Given the description of an element on the screen output the (x, y) to click on. 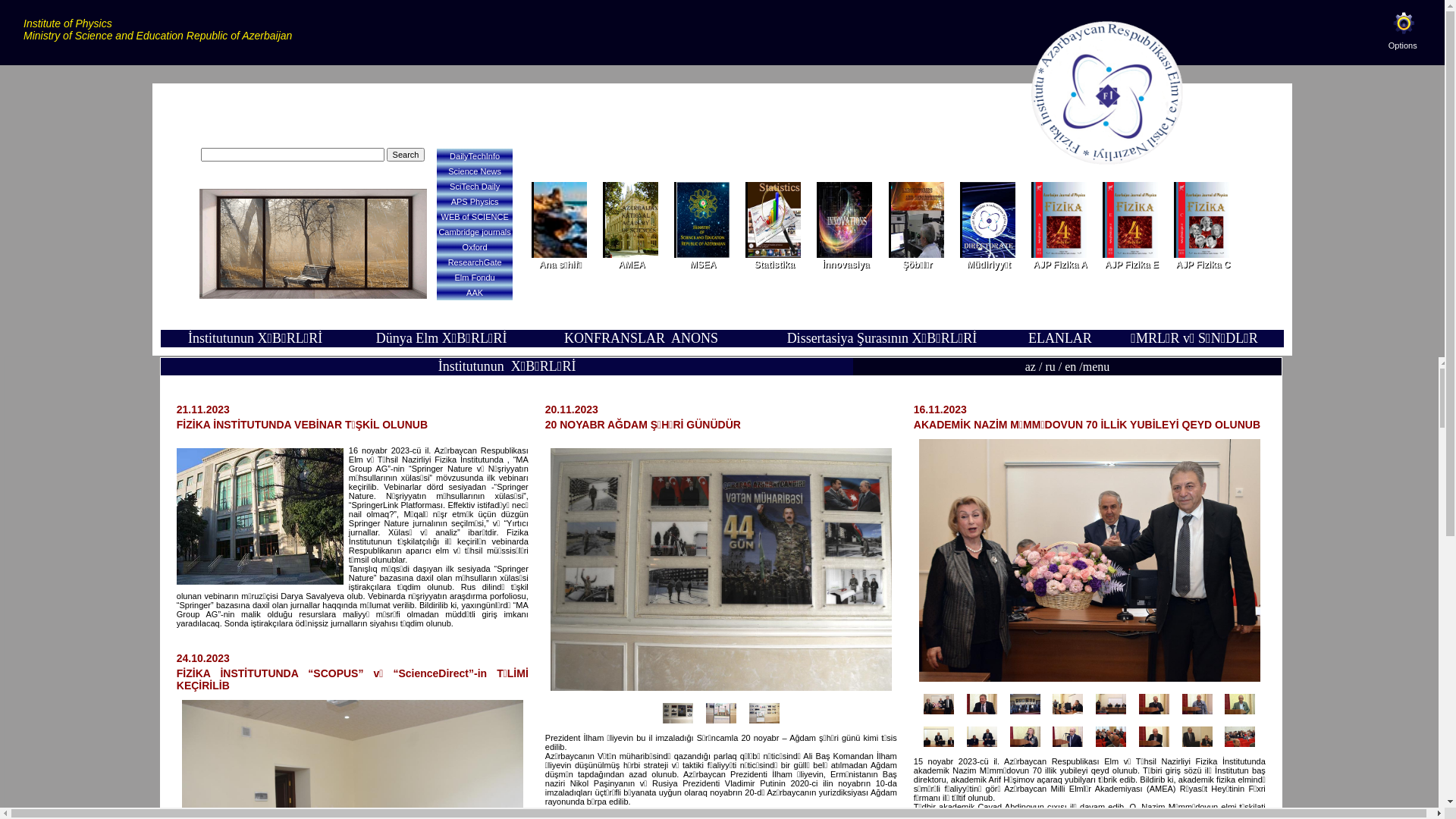
Science News Element type: text (474, 170)
KONFRANSLAR  ANONS Element type: text (641, 337)
Oxford Element type: text (474, 246)
SciTech Daily Element type: text (474, 186)
ELANLAR Element type: text (1060, 337)
AAK Element type: text (474, 292)
Search Element type: text (405, 154)
APS Physics Element type: text (474, 201)
DailyTechInfo Element type: text (474, 155)
Elm Fondu Element type: text (474, 277)
      
Options          Element type: text (1412, 37)
WEB of SCIENCE Element type: text (474, 216)
Cambridge journals Element type: text (474, 231)
GOOGLE SCHOLAR Element type: text (312, 133)
ResearchGate Element type: text (474, 261)
